Given the description of an element on the screen output the (x, y) to click on. 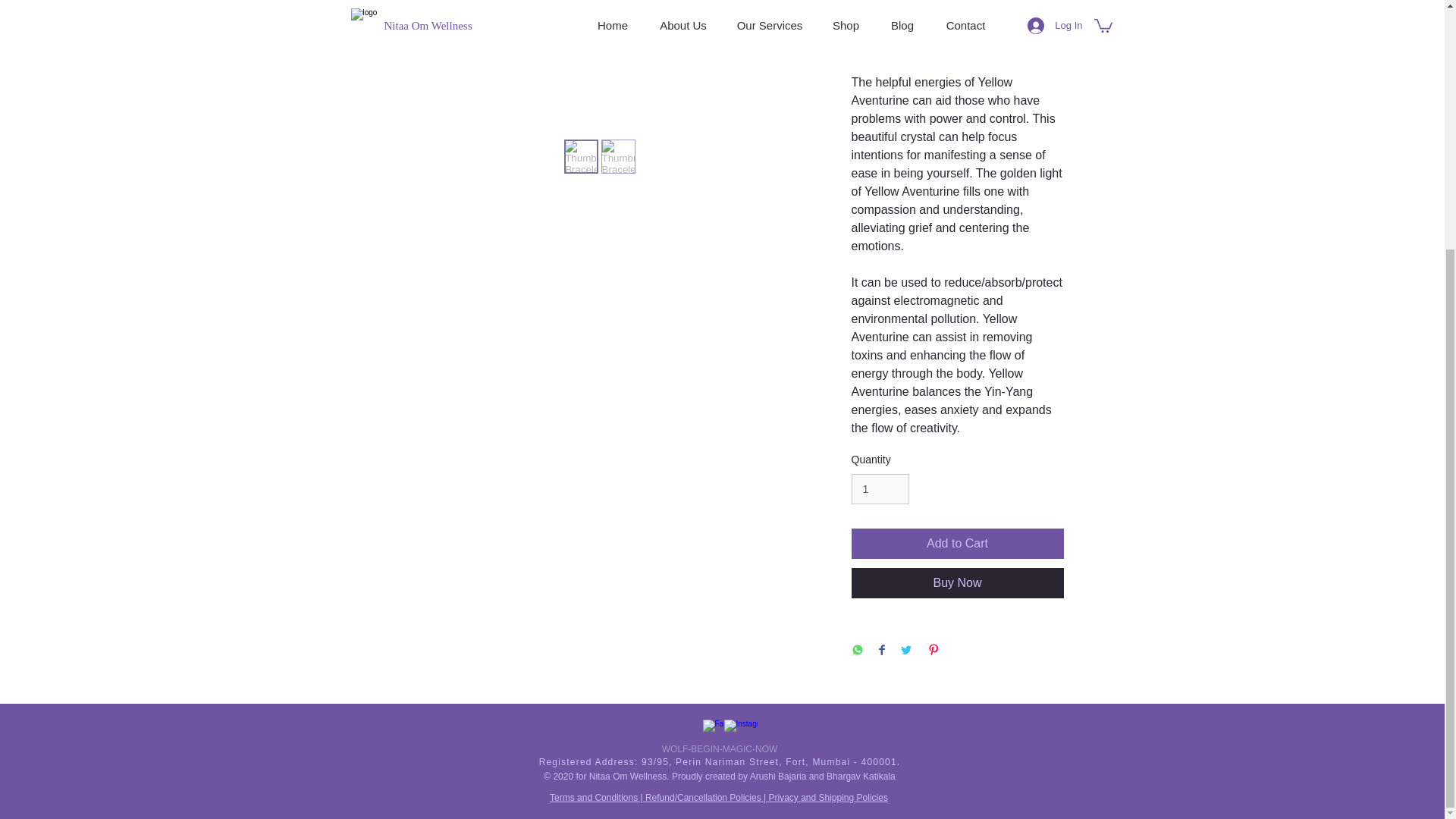
1 (879, 489)
Add to Cart (956, 543)
Buy Now (956, 583)
